Given the description of an element on the screen output the (x, y) to click on. 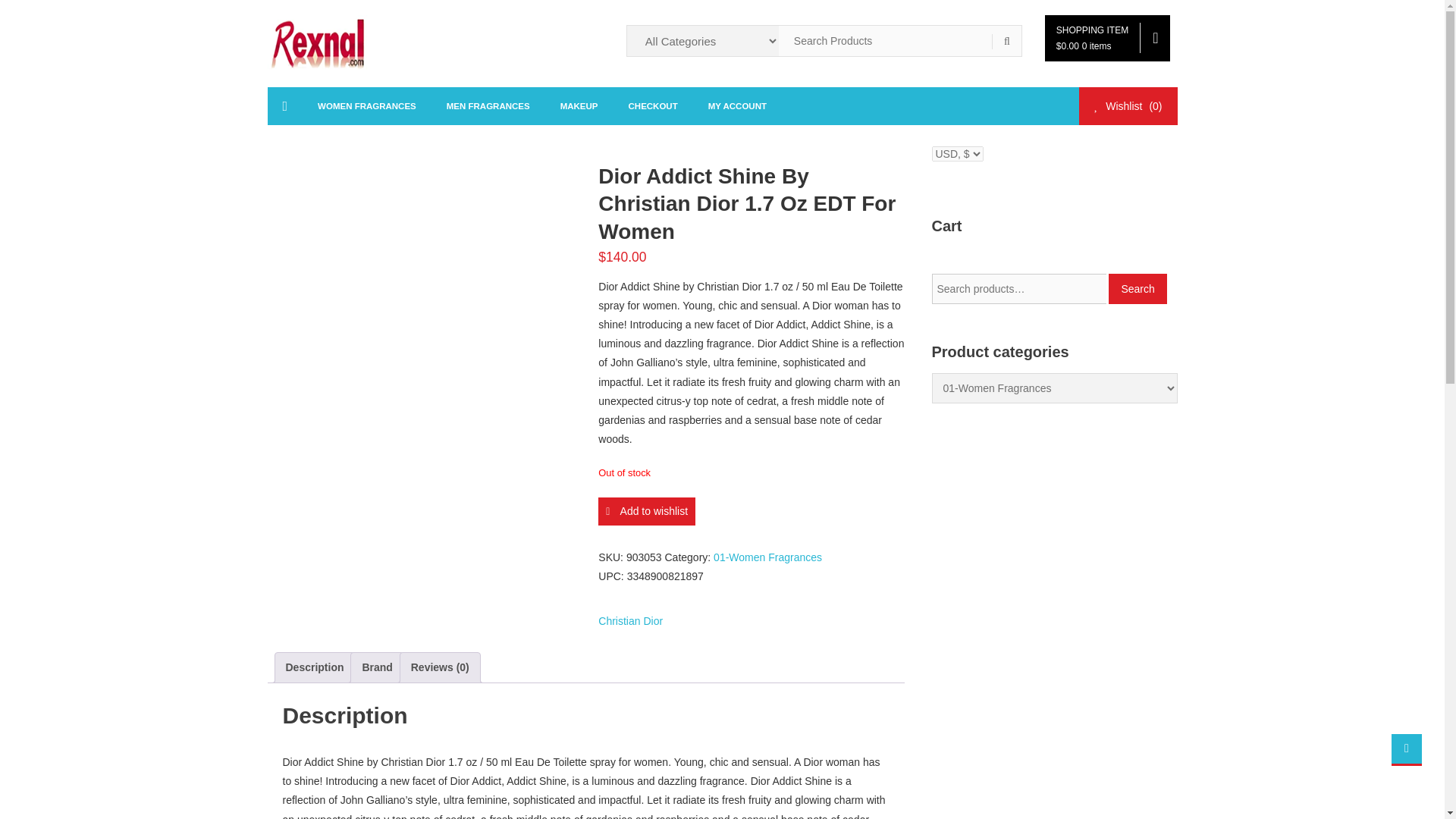
View your shopping cart (1107, 38)
View brand (630, 620)
MEN FRAGRANCES (487, 105)
Add to wishlist (646, 511)
Wishlist Tab (1127, 105)
MAKEUP (578, 105)
MY ACCOUNT (737, 105)
CHECKOUT (652, 105)
WOMEN FRAGRANCES (366, 105)
Description (314, 667)
